Given the description of an element on the screen output the (x, y) to click on. 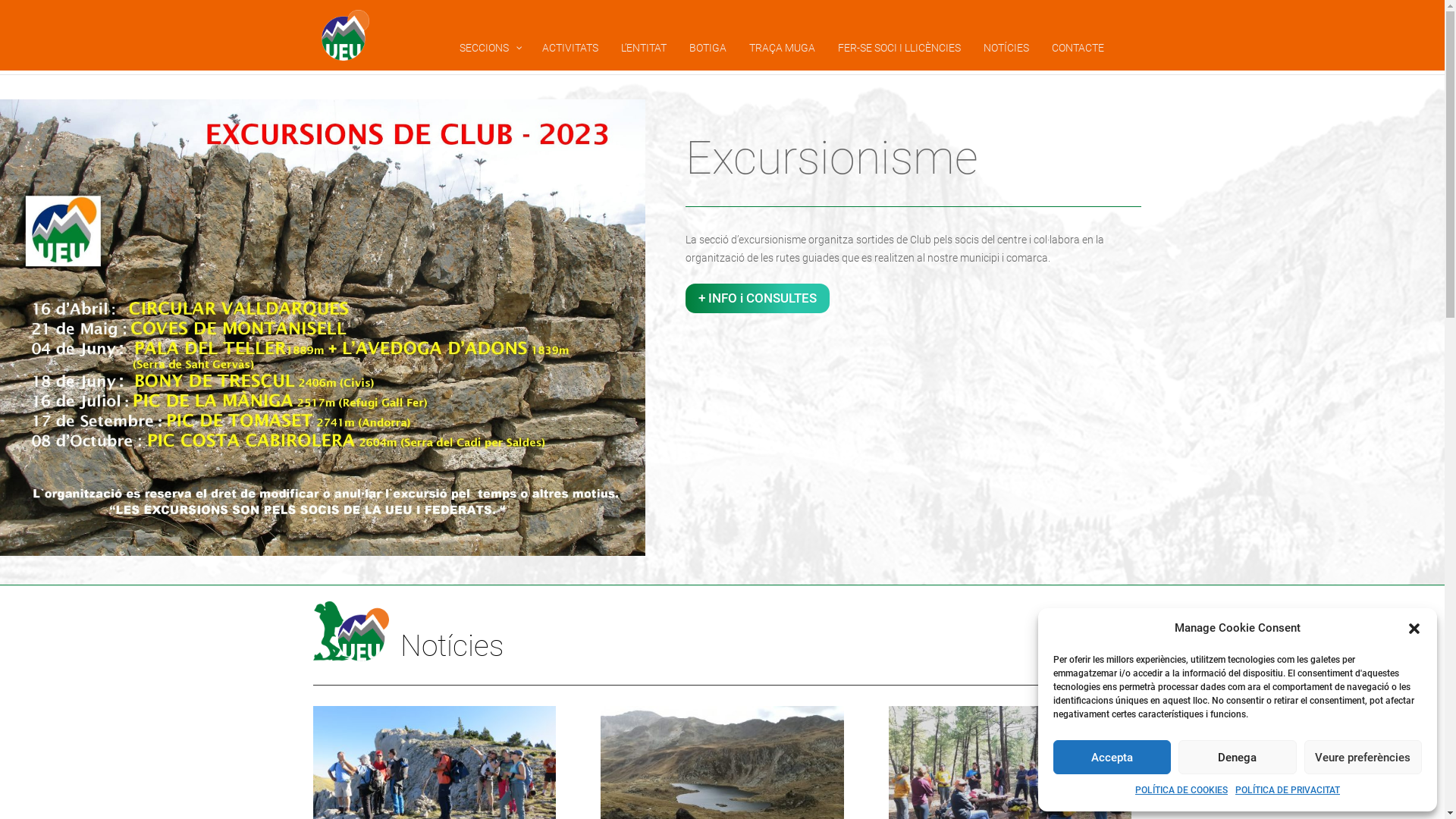
CONTACTE Element type: text (1077, 47)
SECCIONS Element type: text (488, 47)
+ INFO i CONSULTES Element type: text (757, 298)
Denega Element type: text (1236, 757)
Accepta Element type: text (1111, 757)
BOTIGA Element type: text (707, 47)
ACTIVITATS Element type: text (569, 47)
